Given the description of an element on the screen output the (x, y) to click on. 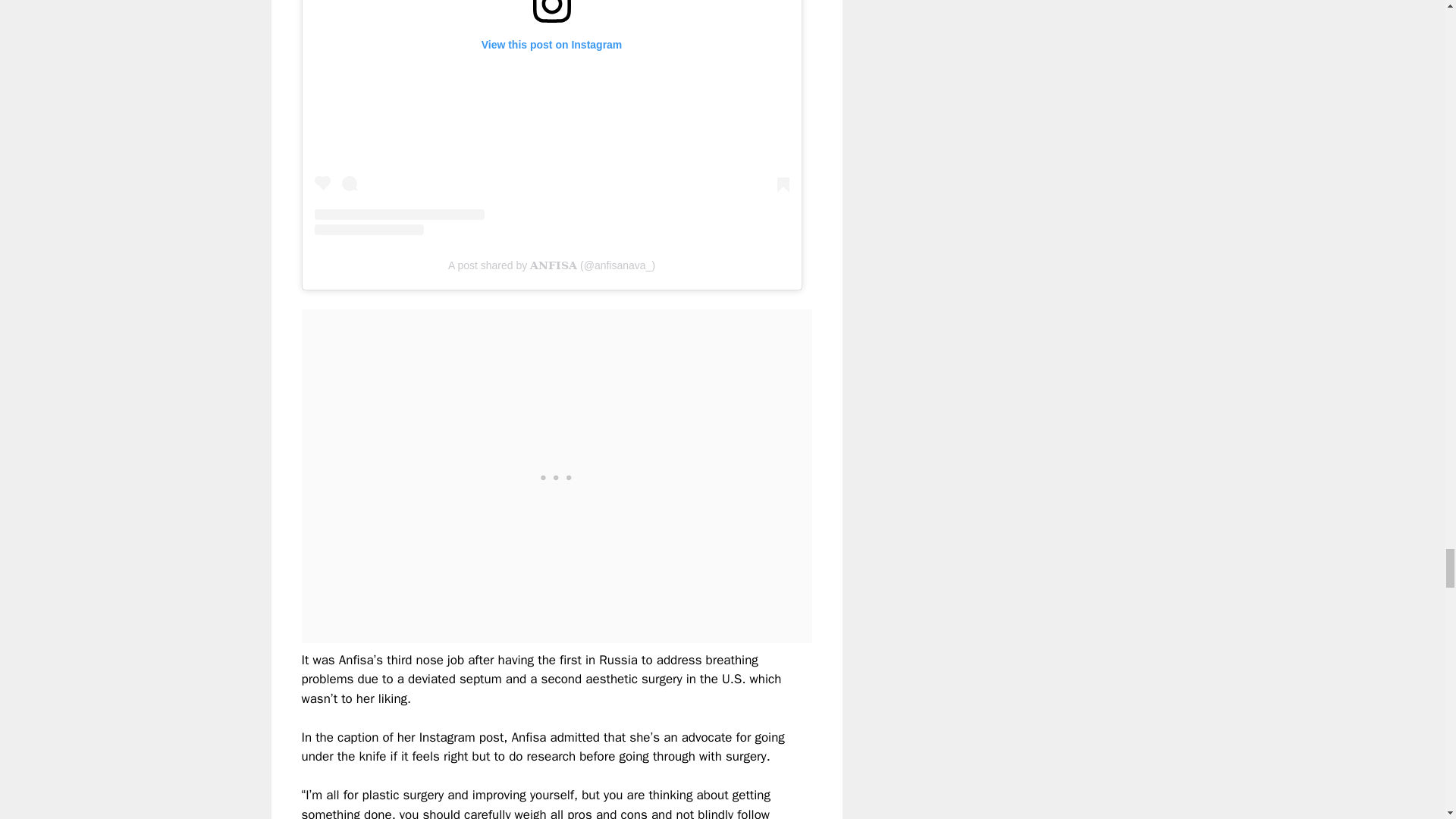
View this post on Instagram (551, 117)
